Given the description of an element on the screen output the (x, y) to click on. 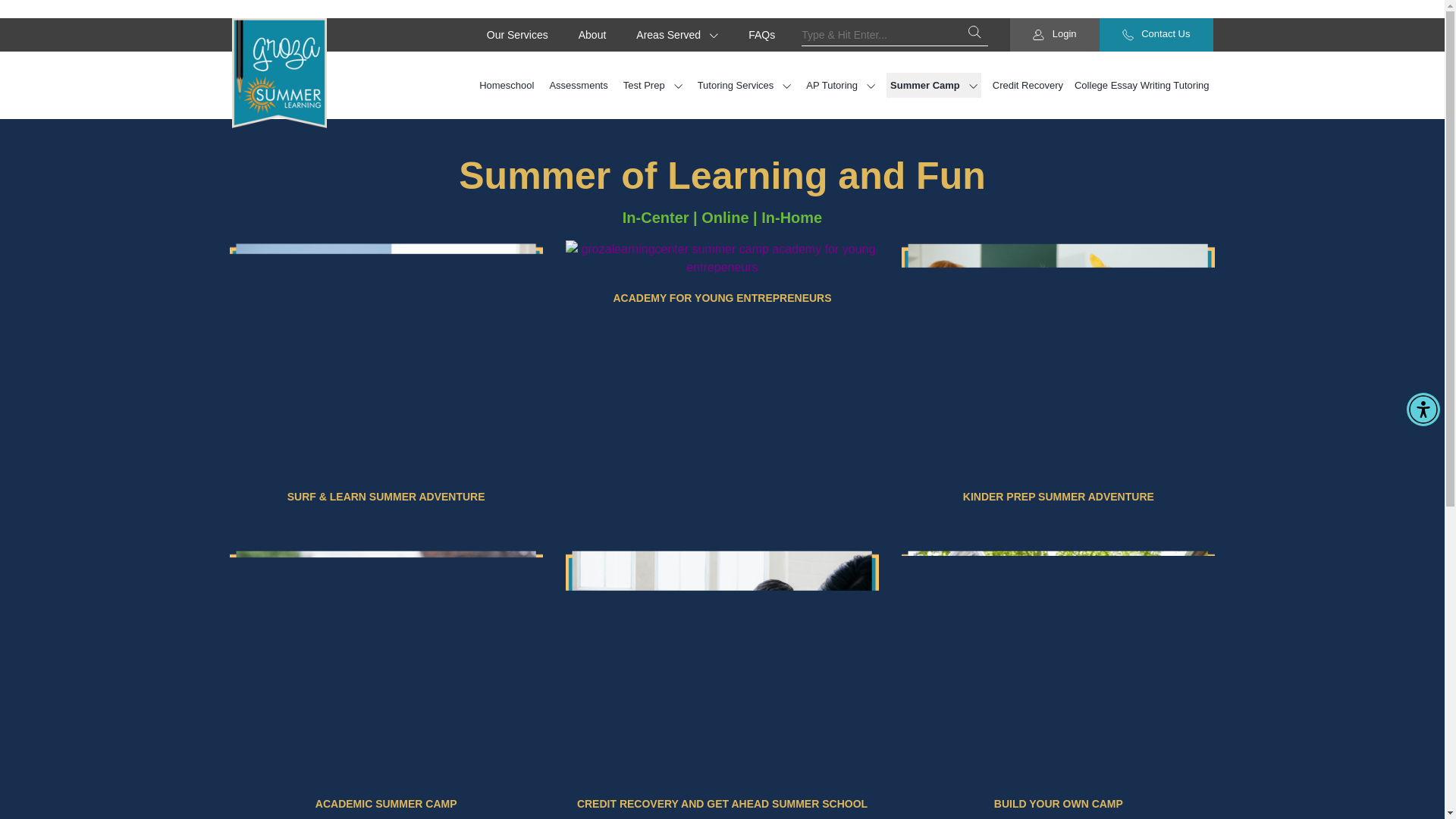
Login (1054, 34)
FAQs (761, 34)
About (592, 34)
Test Prep (652, 84)
Our Services (517, 34)
About (592, 34)
Accessibility Menu (1422, 409)
Our Services (517, 34)
Areas Served (676, 34)
Homeschool (506, 84)
Contact Us (1155, 34)
Areas Served (676, 34)
Assessments (577, 84)
